Given the description of an element on the screen output the (x, y) to click on. 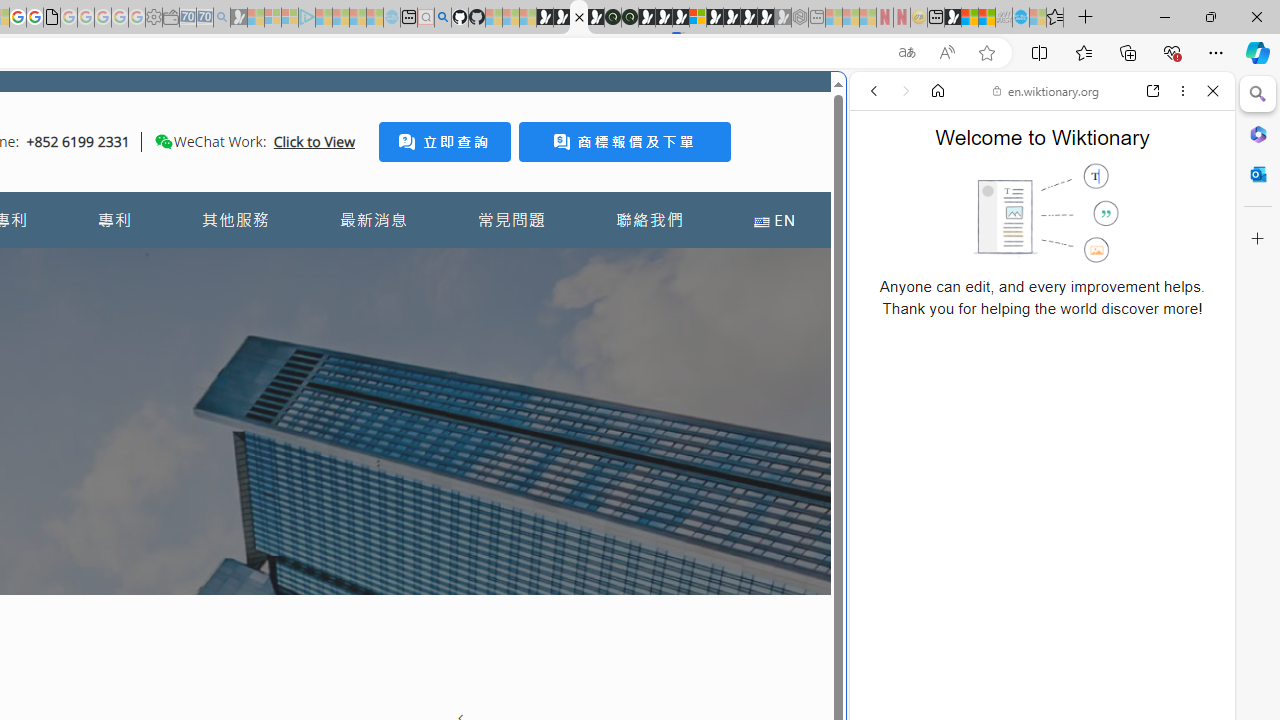
Search or enter web address (343, 191)
